Given the description of an element on the screen output the (x, y) to click on. 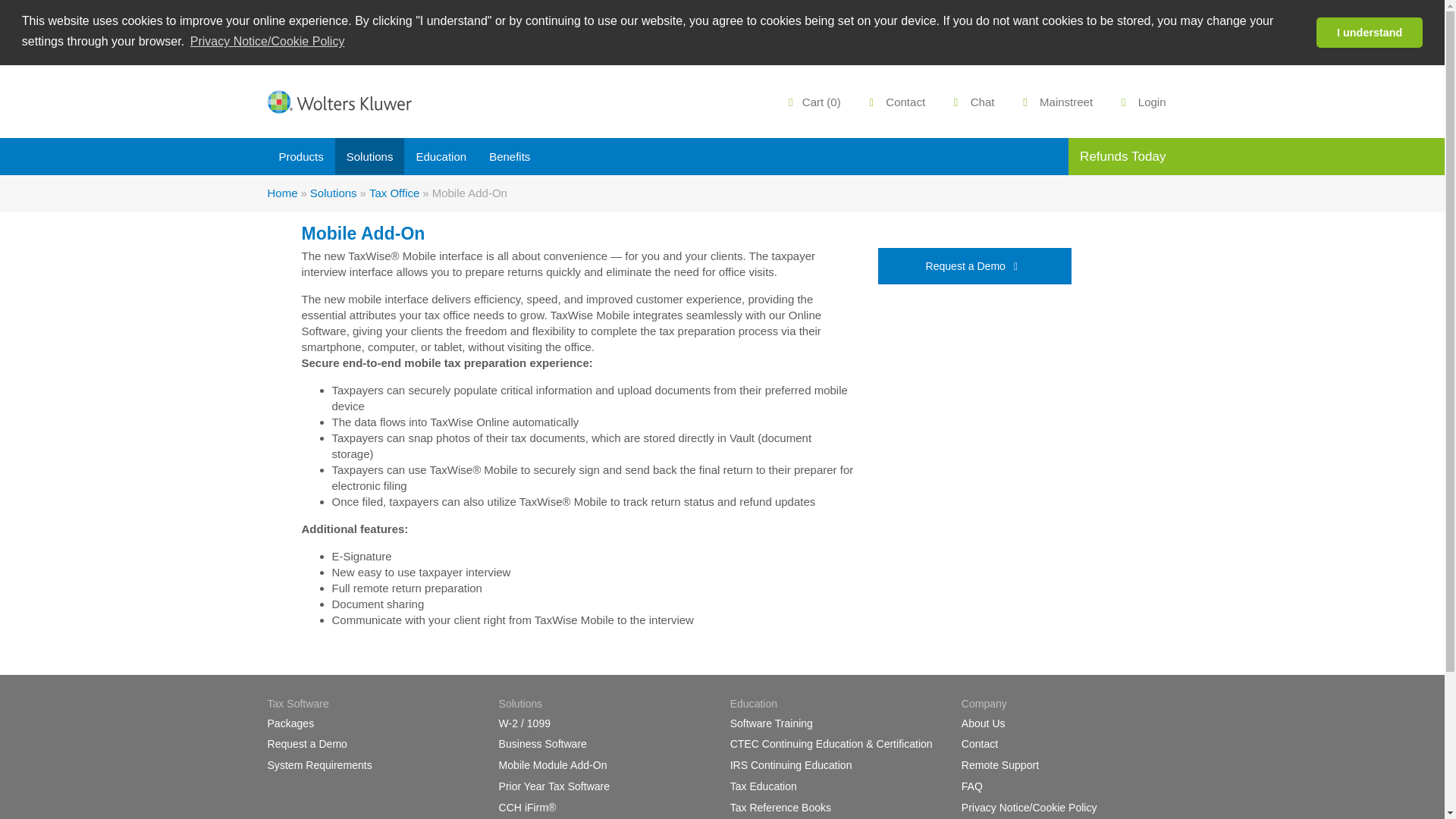
Tax Office (394, 192)
Products (300, 156)
Login (1139, 101)
Tax Reference Books (780, 807)
Education (440, 156)
IRS Continuing Education (790, 765)
Request a Demo (306, 743)
Packages (290, 723)
Home (281, 192)
Solutions (333, 192)
